Given the description of an element on the screen output the (x, y) to click on. 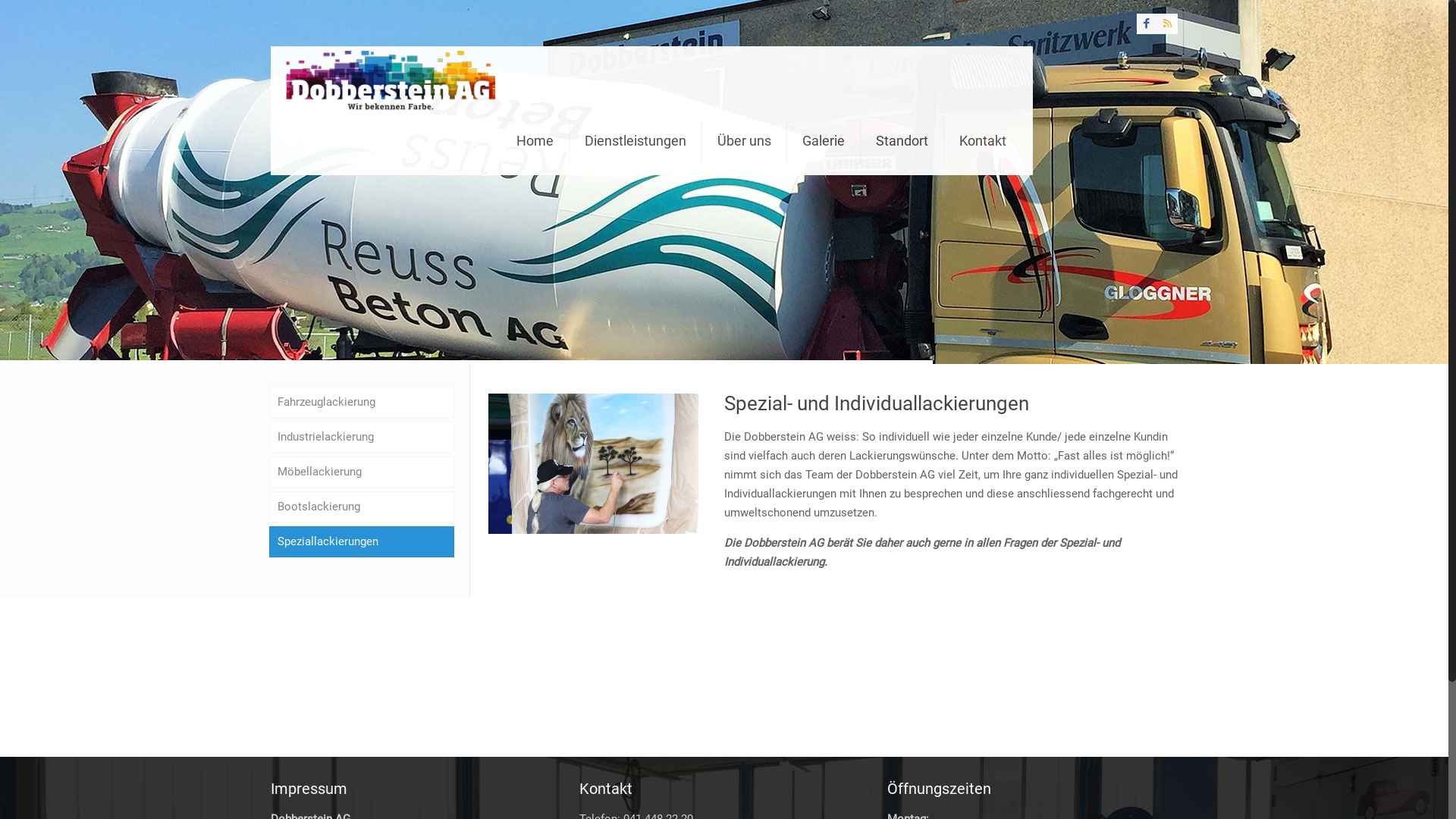
RSS Element type: hover (1167, 23)
Autospritzwerk Dobberstein Element type: hover (390, 76)
Kontakt Element type: text (982, 140)
Speziallackierungen Element type: text (361, 541)
Dienstleistungen Element type: text (635, 140)
Fahrzeuglackierung Element type: text (361, 401)
Industrielackierung Element type: text (361, 436)
Home Element type: text (535, 140)
Facebook Element type: hover (1146, 23)
Galerie Element type: text (823, 140)
Bootslackierung Element type: text (361, 506)
Standort Element type: text (902, 140)
